Given the description of an element on the screen output the (x, y) to click on. 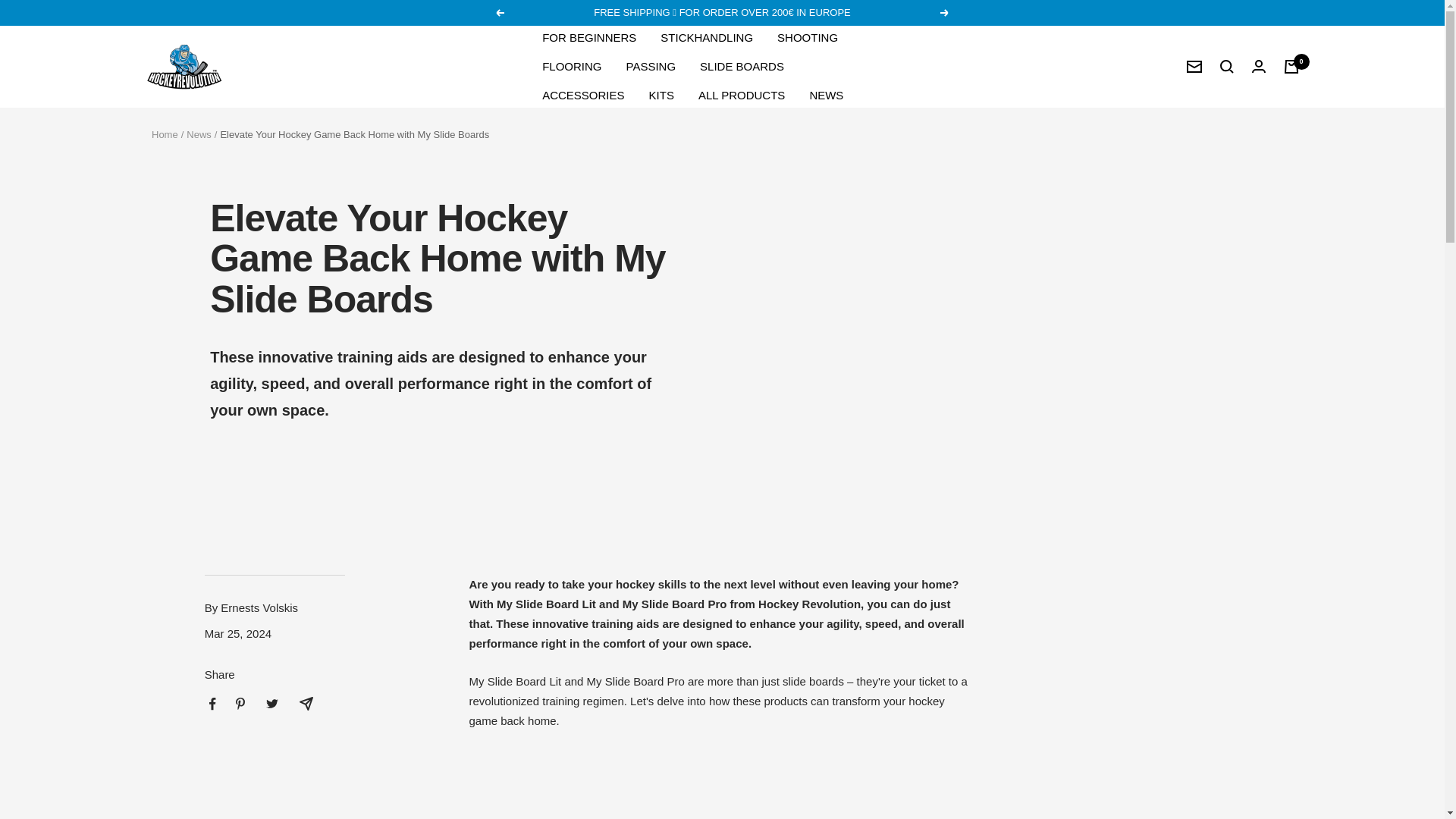
STICKHANDLING (706, 37)
Home (164, 134)
Next (944, 12)
YouTube video player (680, 784)
FLOORING (571, 66)
SLIDE BOARDS (742, 66)
0 (1291, 66)
KITS (661, 95)
News (198, 134)
NEWS (826, 95)
ALL PRODUCTS (741, 95)
Previous (499, 12)
Newsletter (1194, 66)
Hockey Revolution (183, 66)
SHOOTING (807, 37)
